Given the description of an element on the screen output the (x, y) to click on. 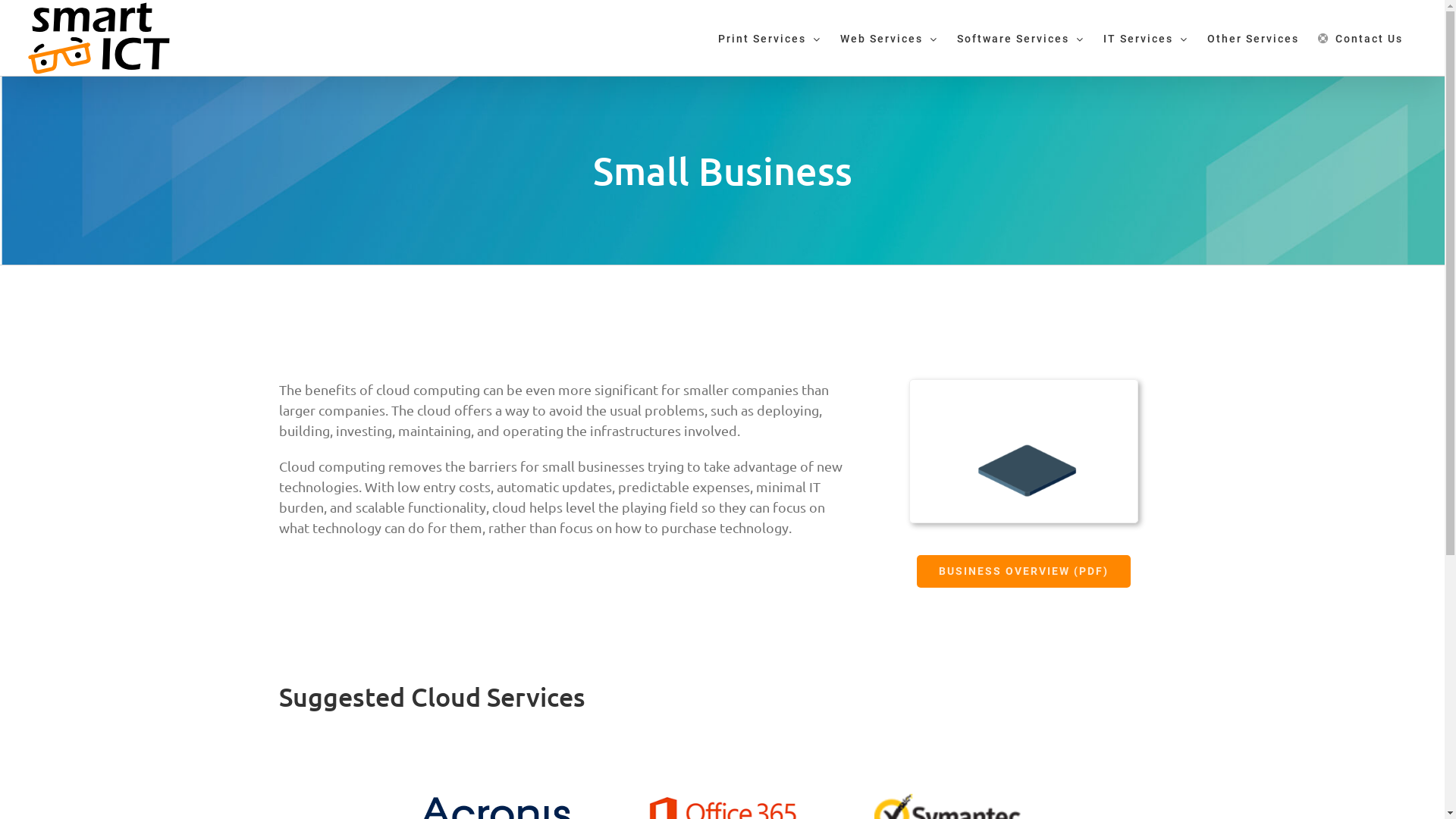
IT Services Element type: text (1145, 37)
Contact Us Element type: text (1359, 37)
BUSINESS OVERVIEW (PDF) Element type: text (1023, 571)
Other Services Element type: text (1253, 37)
Web Services Element type: text (889, 37)
1-Layer Element type: hover (1023, 450)
Print Services Element type: text (769, 37)
Software Services Element type: text (1020, 37)
